Given the description of an element on the screen output the (x, y) to click on. 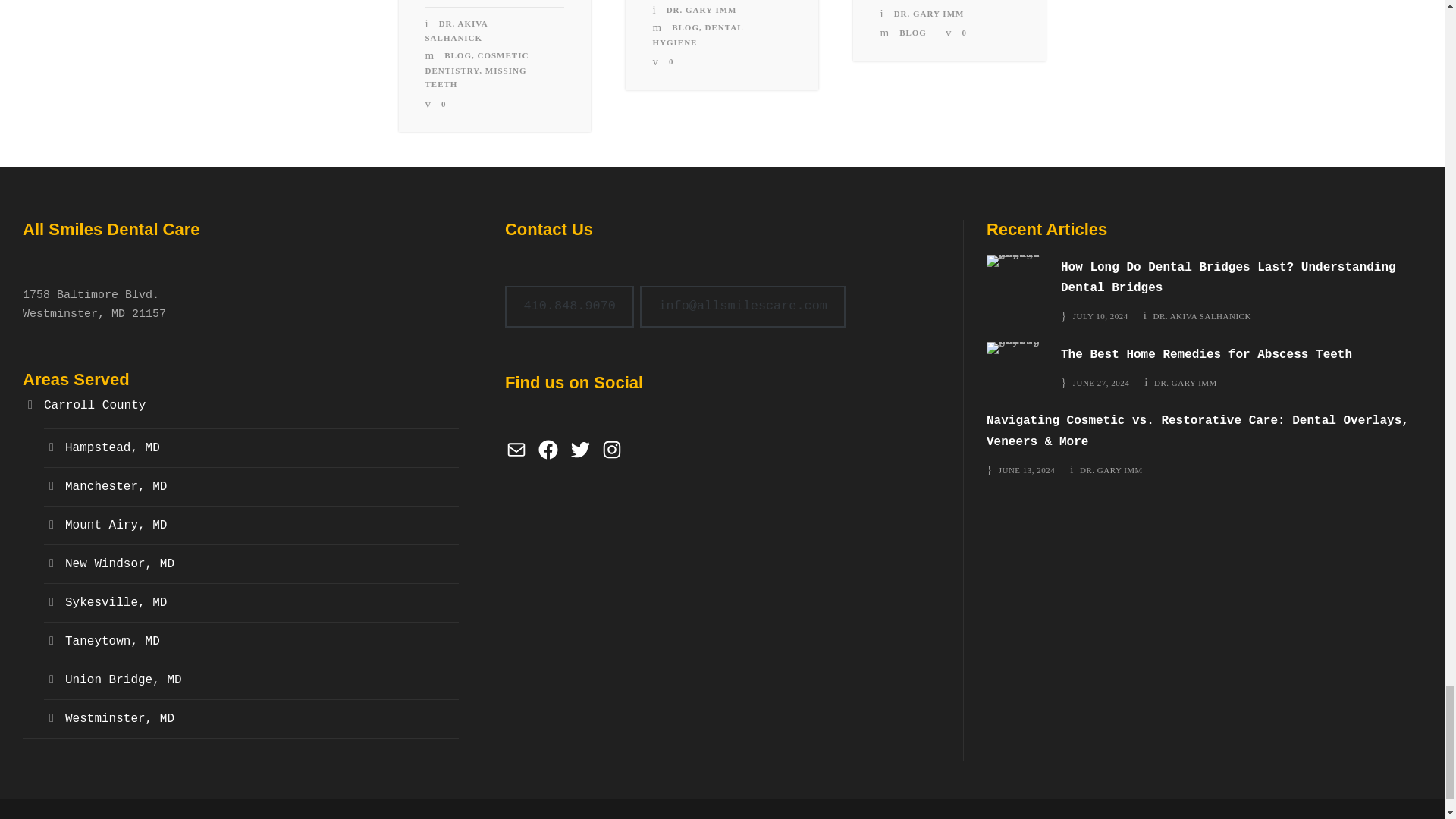
Posts by Dr. Gary Imm (928, 13)
Posts by Dr. Akiva Salhanick (1201, 316)
Posts by Dr. Gary Imm (701, 9)
Posts by Dr. Gary Imm (1185, 382)
Posts by Dr. Gary Imm (1111, 470)
Posts by Dr. Akiva Salhanick (456, 30)
